Given the description of an element on the screen output the (x, y) to click on. 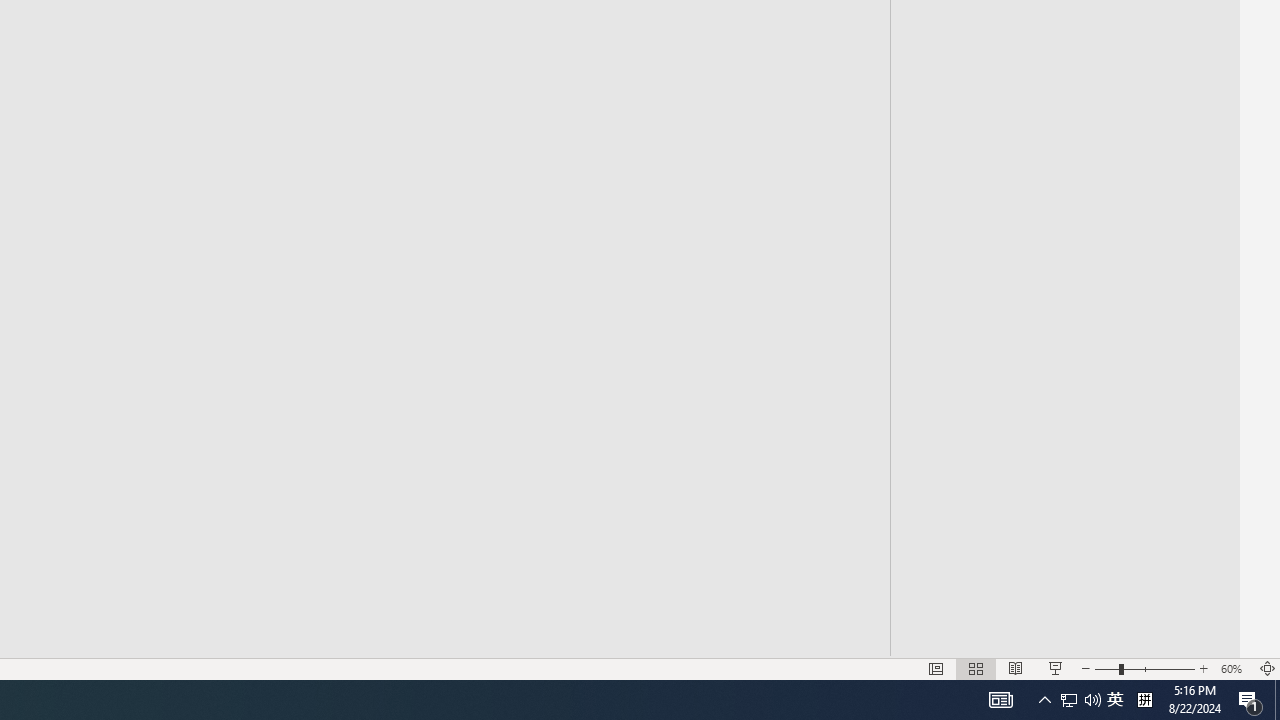
Zoom 60% (1234, 668)
